Given the description of an element on the screen output the (x, y) to click on. 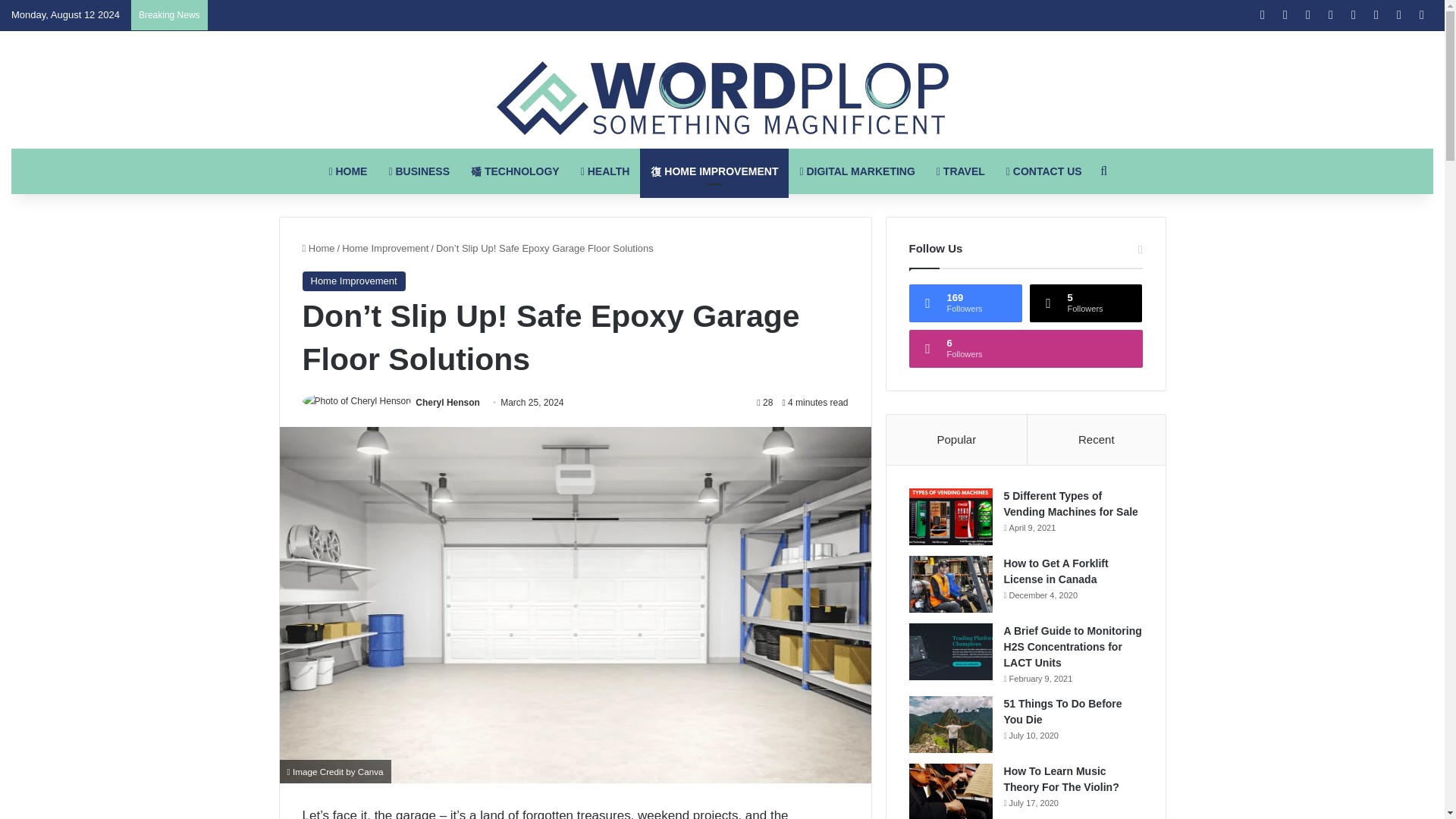
HOME (347, 171)
HOME IMPROVEMENT (714, 171)
CONTACT US (1044, 171)
Cheryl Henson (447, 402)
TRAVEL (960, 171)
WordPlop (722, 98)
HEALTH (605, 171)
Home Improvement (385, 247)
DIGITAL MARKETING (856, 171)
TECHNOLOGY (515, 171)
